Given the description of an element on the screen output the (x, y) to click on. 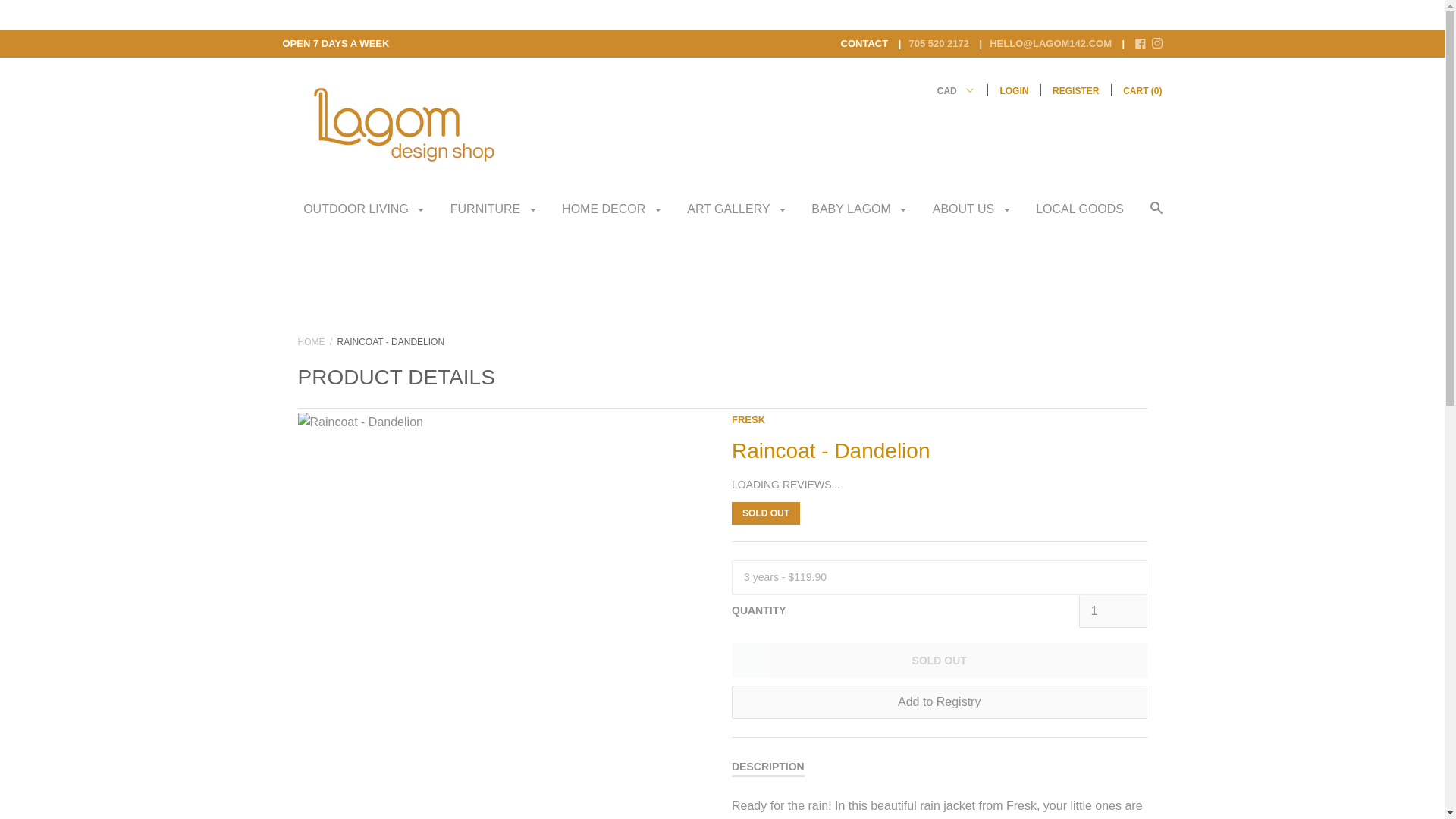
Add to Registry (939, 702)
1 (1112, 611)
